Given the description of an element on the screen output the (x, y) to click on. 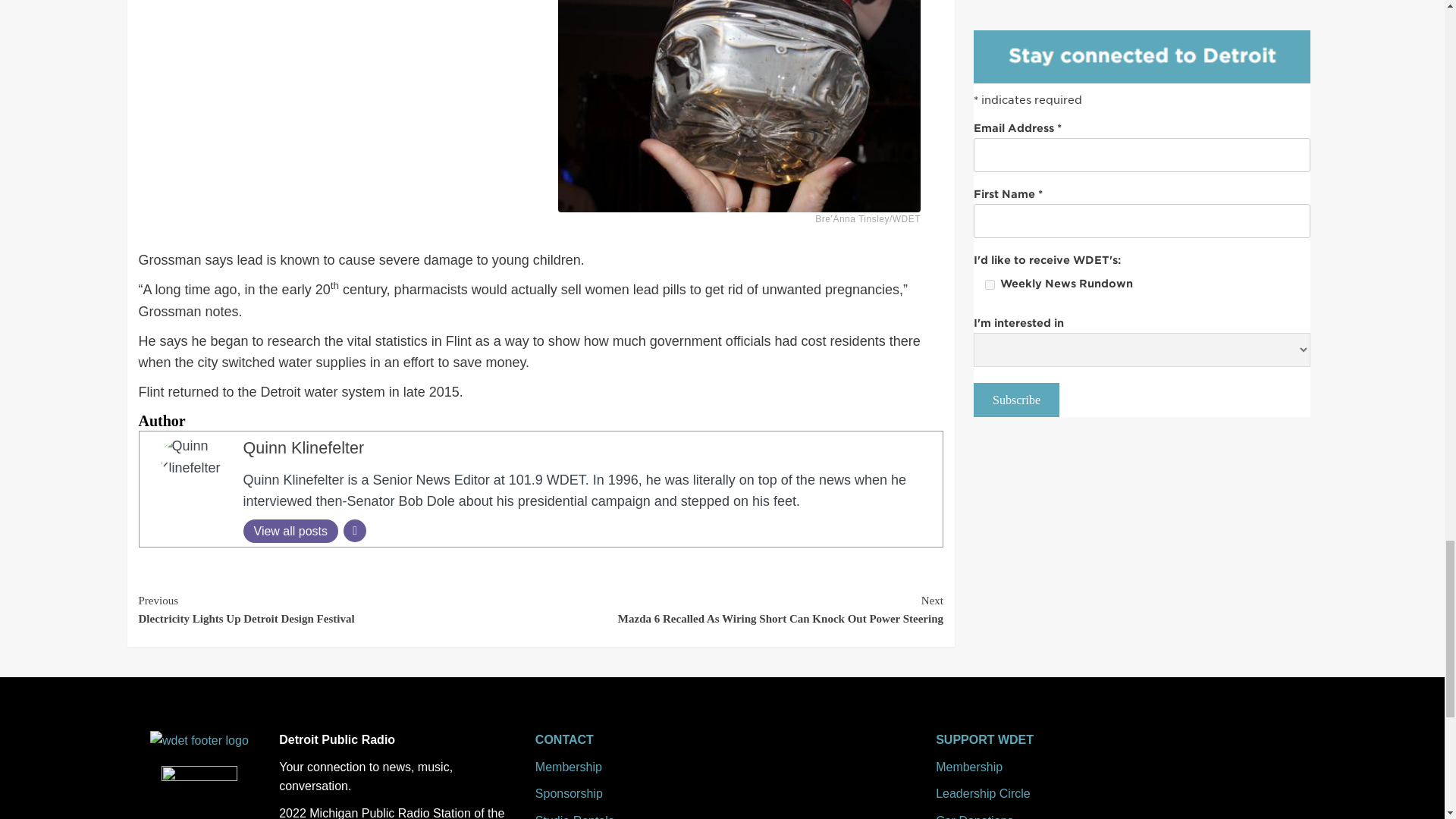
Quinn Klinefelter (303, 447)
View all posts (290, 530)
wdet footer logo (198, 741)
